Given the description of an element on the screen output the (x, y) to click on. 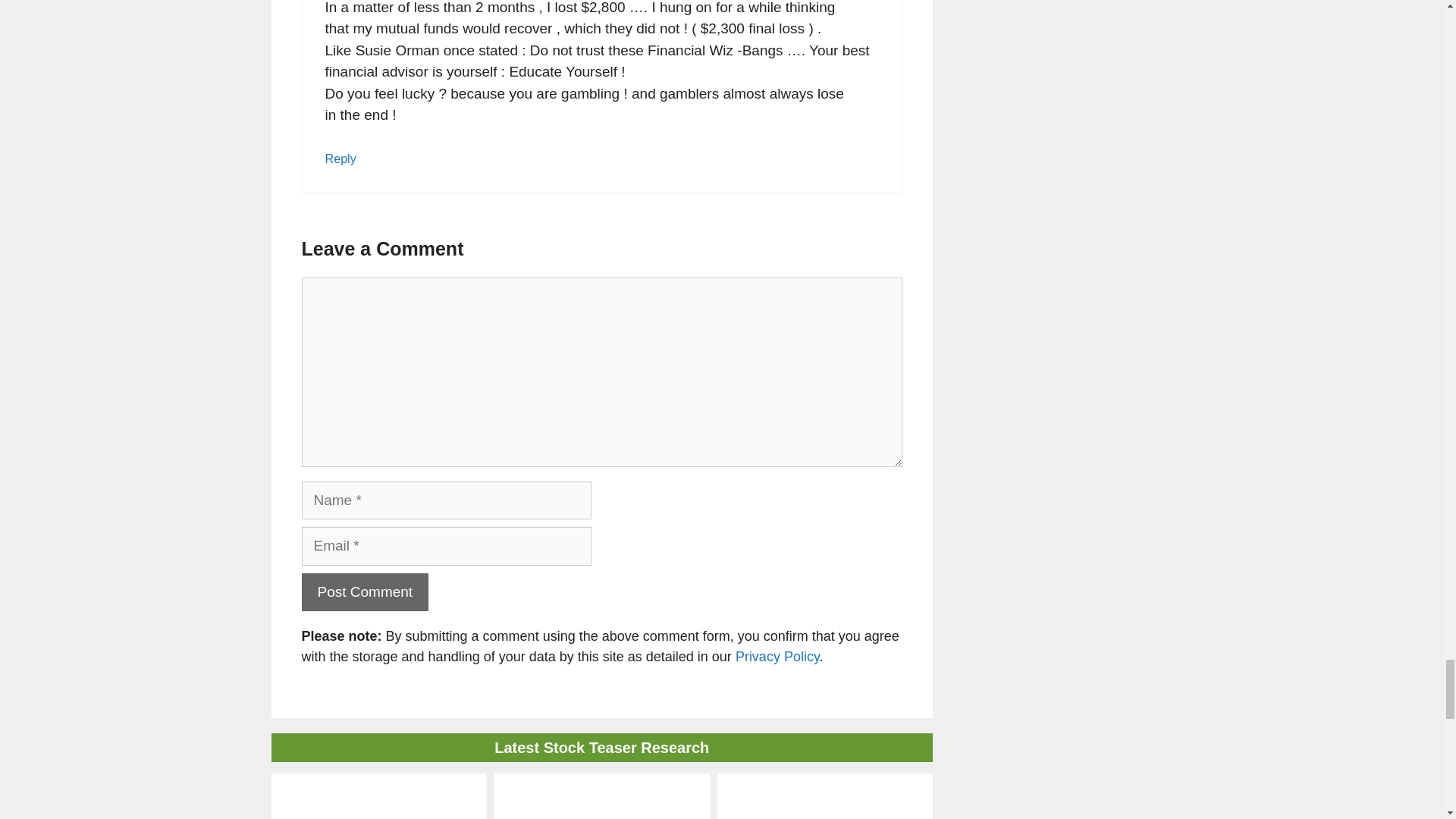
Post Comment (365, 592)
Privacy Policy (777, 656)
Post Comment (365, 592)
Reply (339, 158)
